Given the description of an element on the screen output the (x, y) to click on. 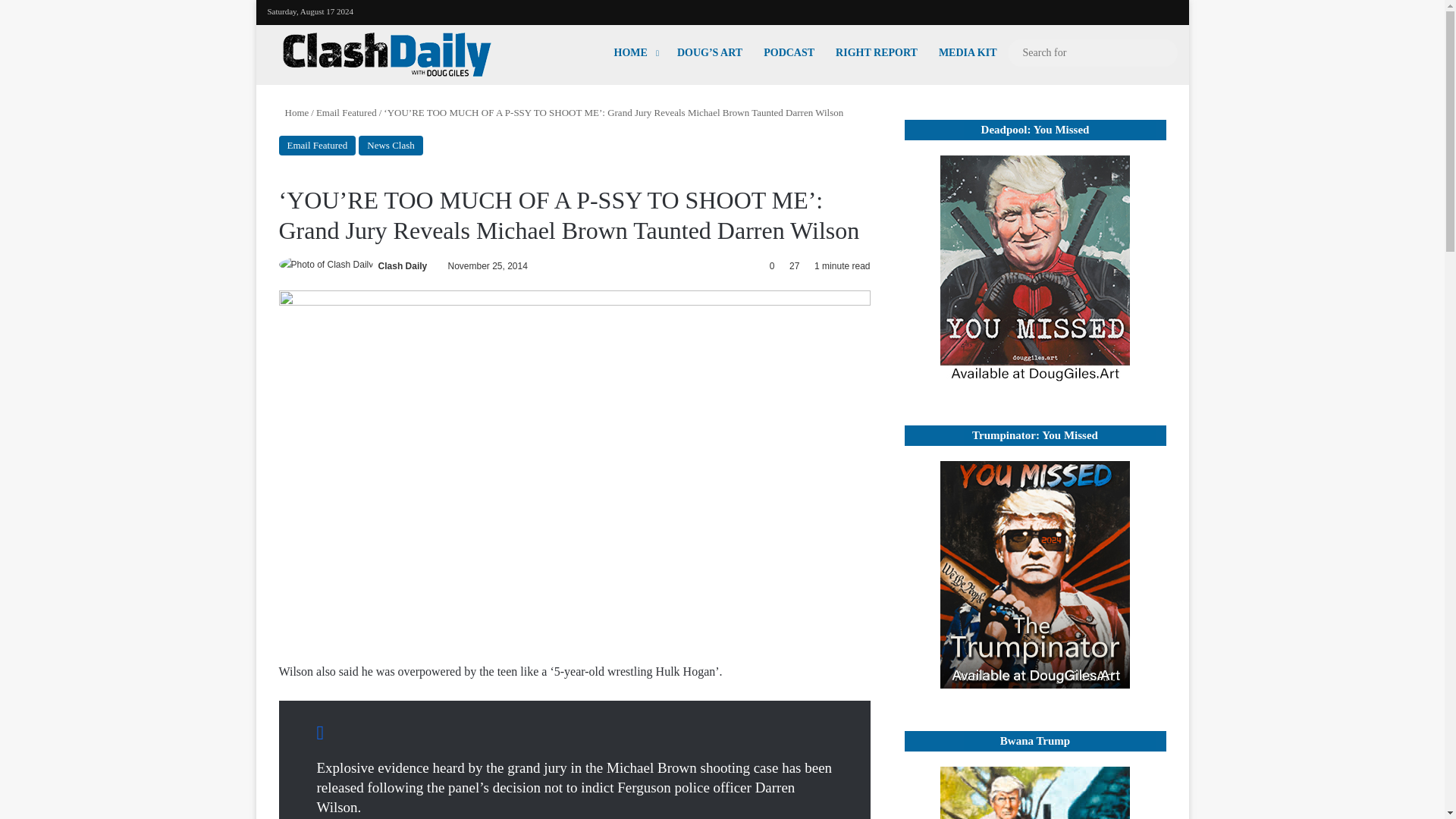
MEDIA KIT (967, 52)
Search for (1091, 52)
Clash Daily (403, 266)
News Clash (390, 145)
PODCAST (788, 52)
Clash Daily (386, 53)
Home (293, 112)
Facebook (1074, 9)
HOME (635, 52)
Email Featured (317, 145)
